Given the description of an element on the screen output the (x, y) to click on. 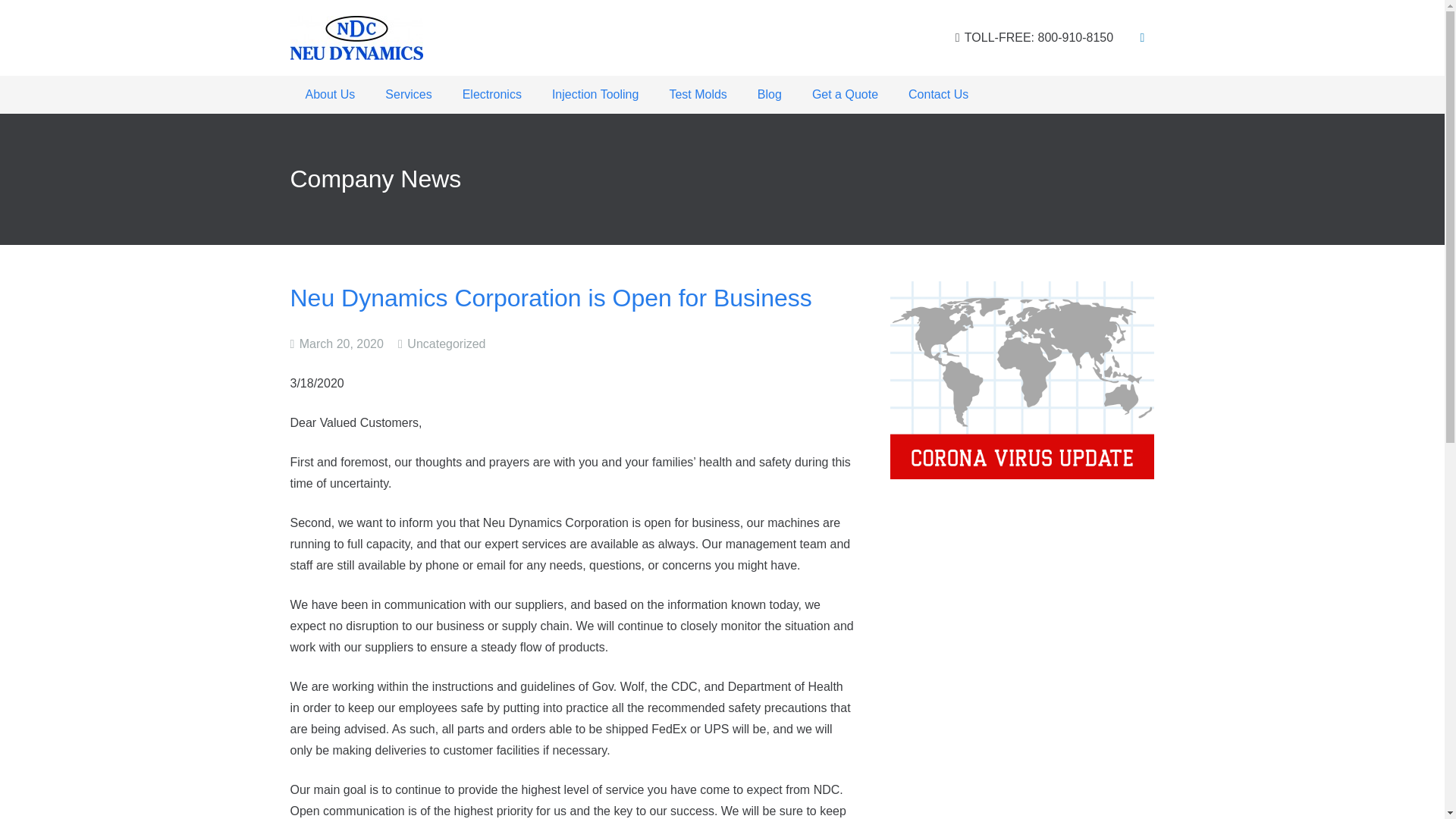
Electronics (491, 94)
Uncategorized (445, 343)
Contact Us (938, 94)
TOLL-FREE: 800-910-8150 (1034, 37)
About Us (329, 94)
LinkedIn (1142, 37)
Get a Quote (844, 94)
Injection Tooling (595, 94)
Services (407, 94)
Blog (769, 94)
